Given the description of an element on the screen output the (x, y) to click on. 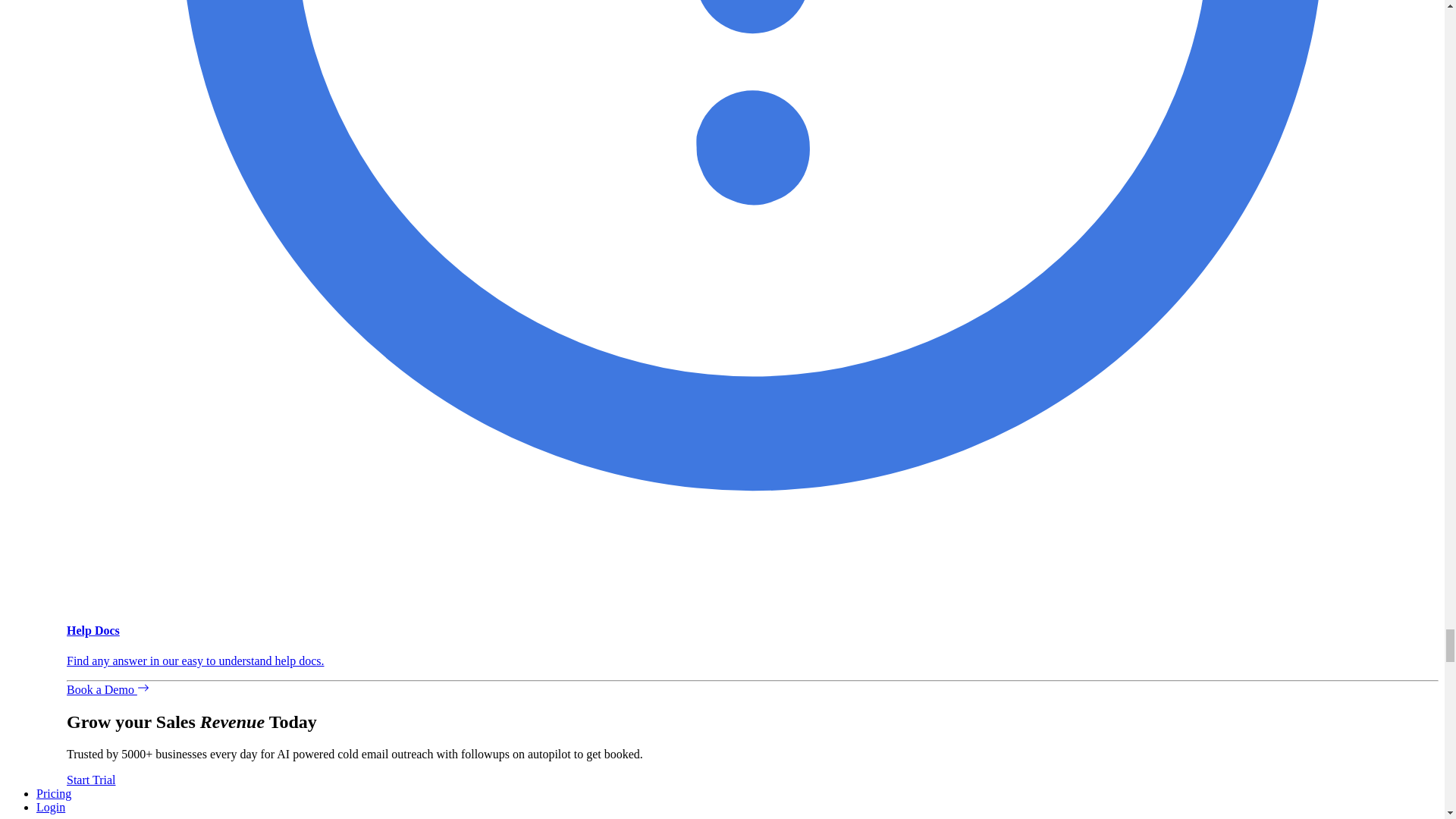
Login (50, 807)
Pricing (53, 793)
Book a Demo (107, 689)
Start Trial (90, 779)
